Given the description of an element on the screen output the (x, y) to click on. 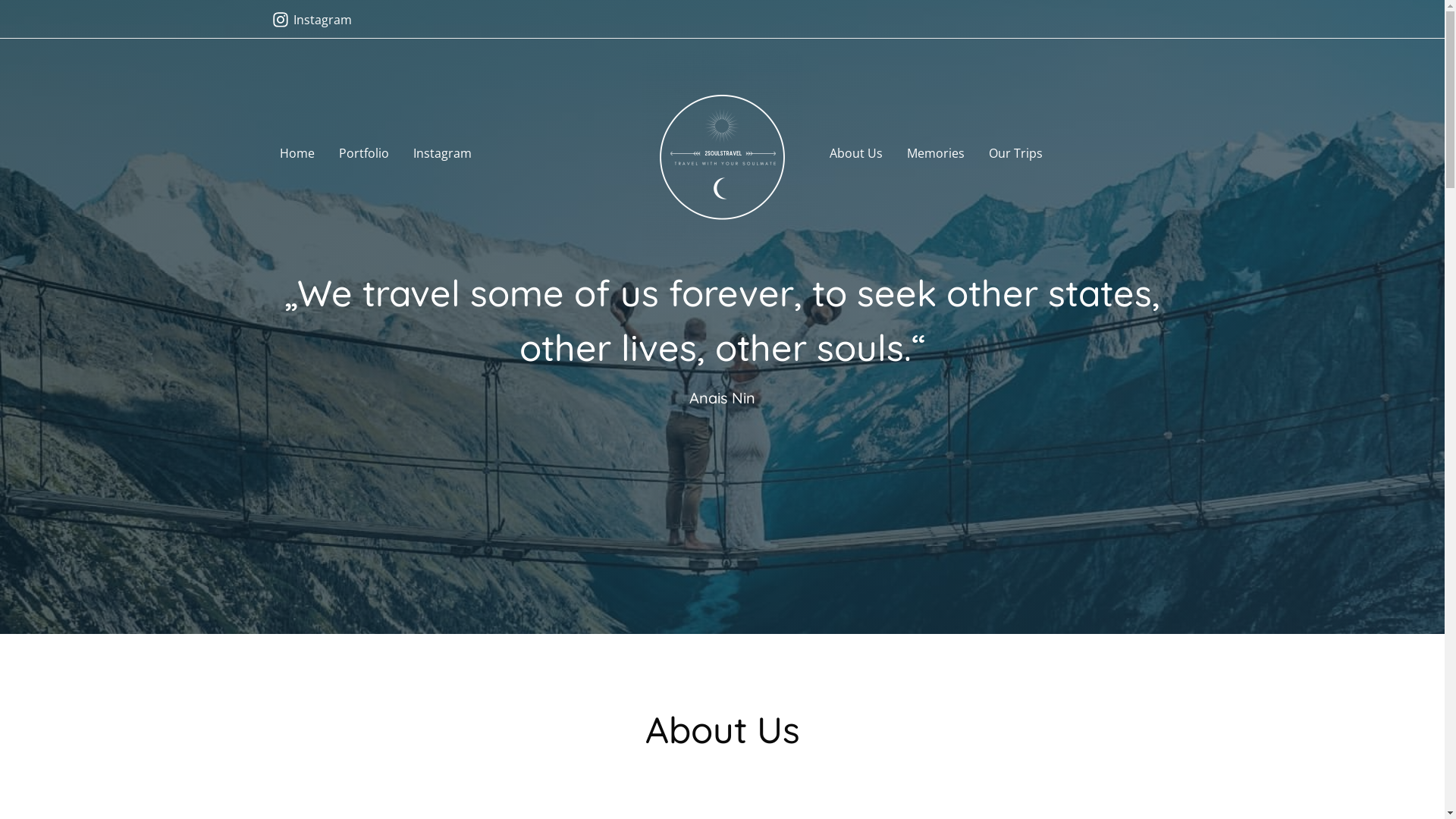
About Us Element type: text (855, 153)
Home Element type: text (296, 153)
Our Trips Element type: text (1015, 153)
Memories Element type: text (935, 153)
Instagram Element type: text (311, 19)
Instagram Element type: text (441, 153)
Portfolio Element type: text (363, 153)
